Given the description of an element on the screen output the (x, y) to click on. 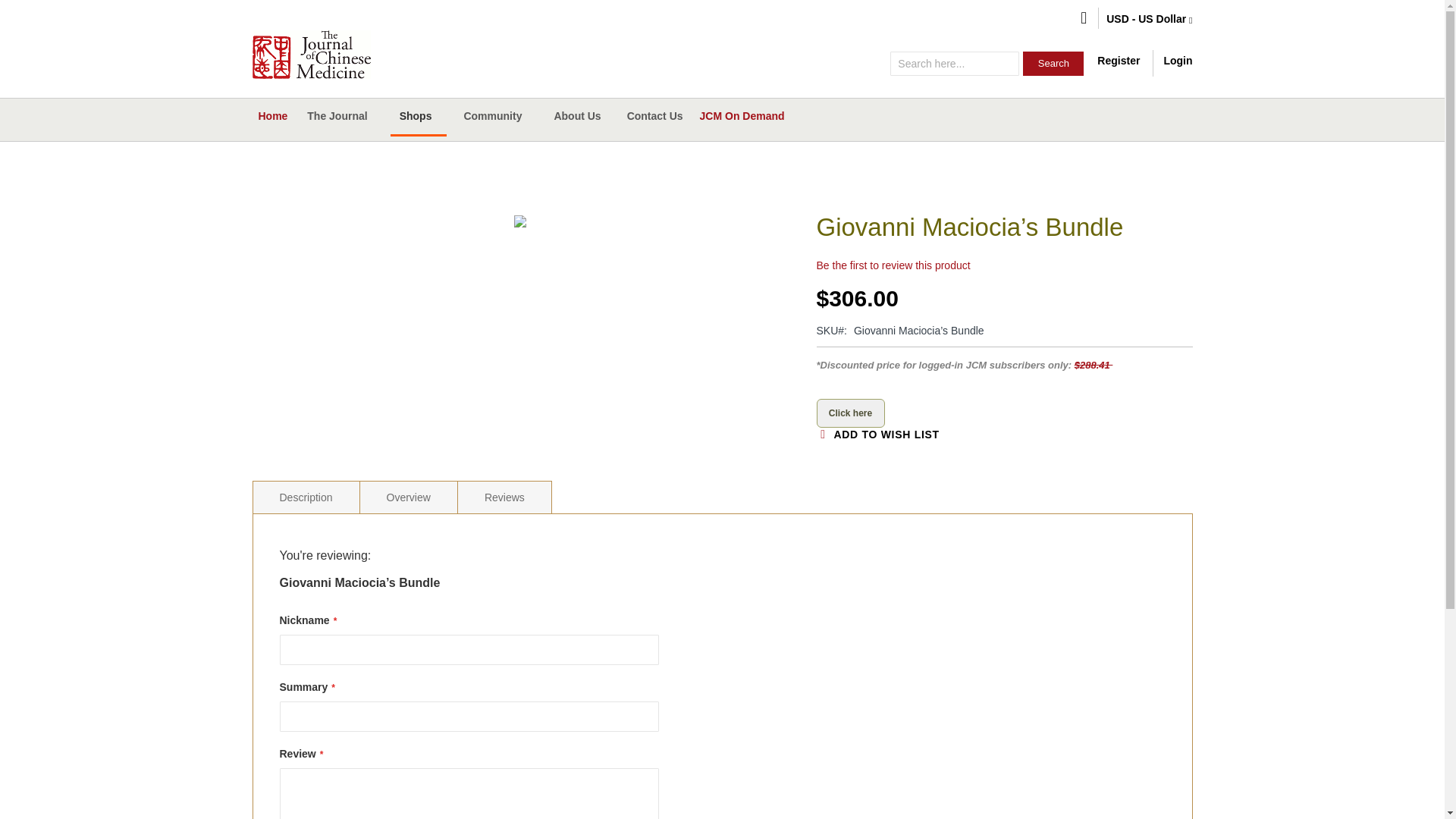
Home (271, 115)
Journal of Chinese Medicine (310, 54)
Register (1118, 60)
Login (1177, 60)
Search (1053, 63)
The Journal (339, 116)
Search (1053, 63)
Click here (849, 412)
